Given the description of an element on the screen output the (x, y) to click on. 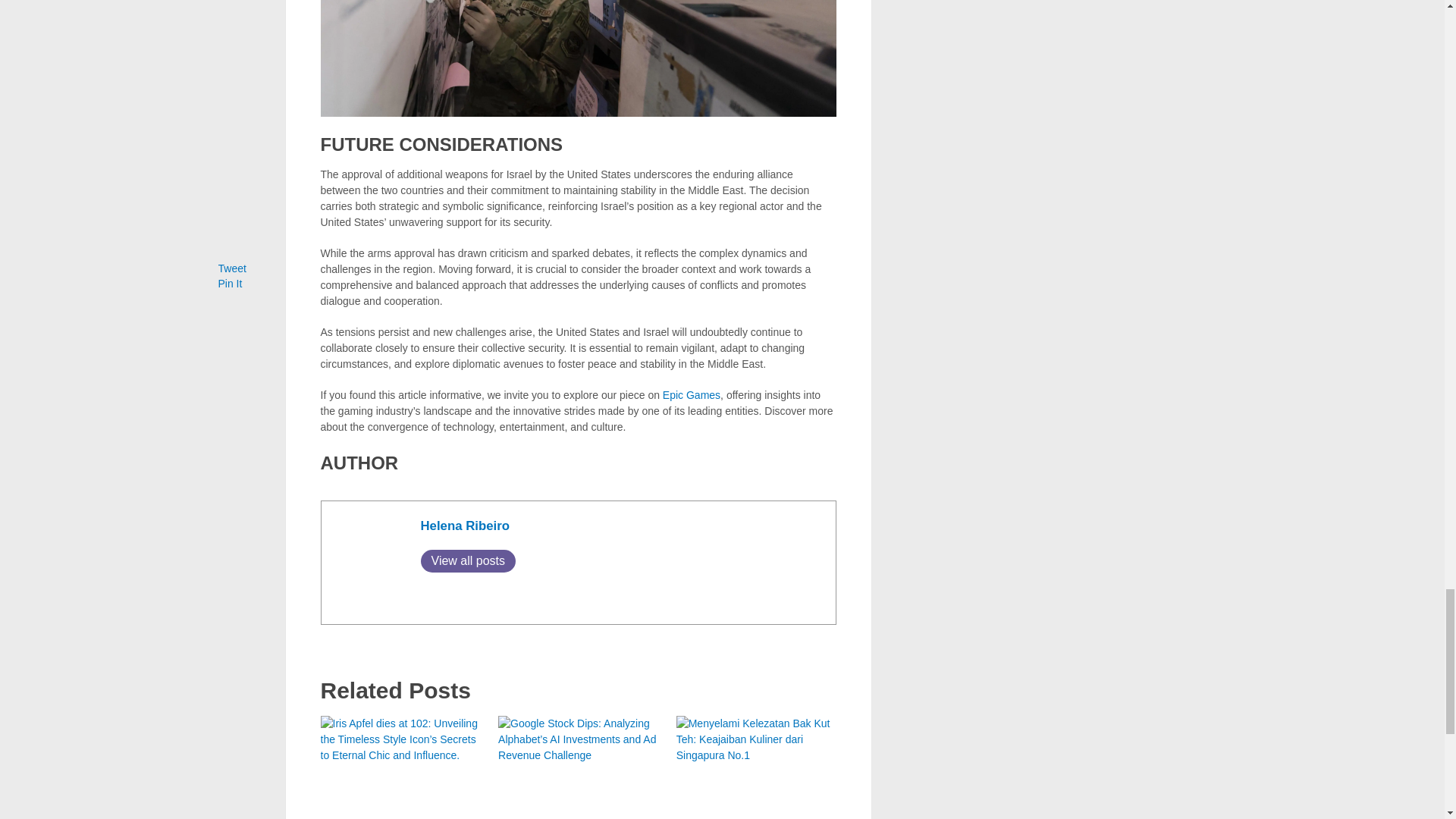
Helena Ribeiro (464, 525)
Epic Games (691, 395)
Helena Ribeiro (464, 525)
View all posts (467, 560)
View all posts (467, 560)
